Given the description of an element on the screen output the (x, y) to click on. 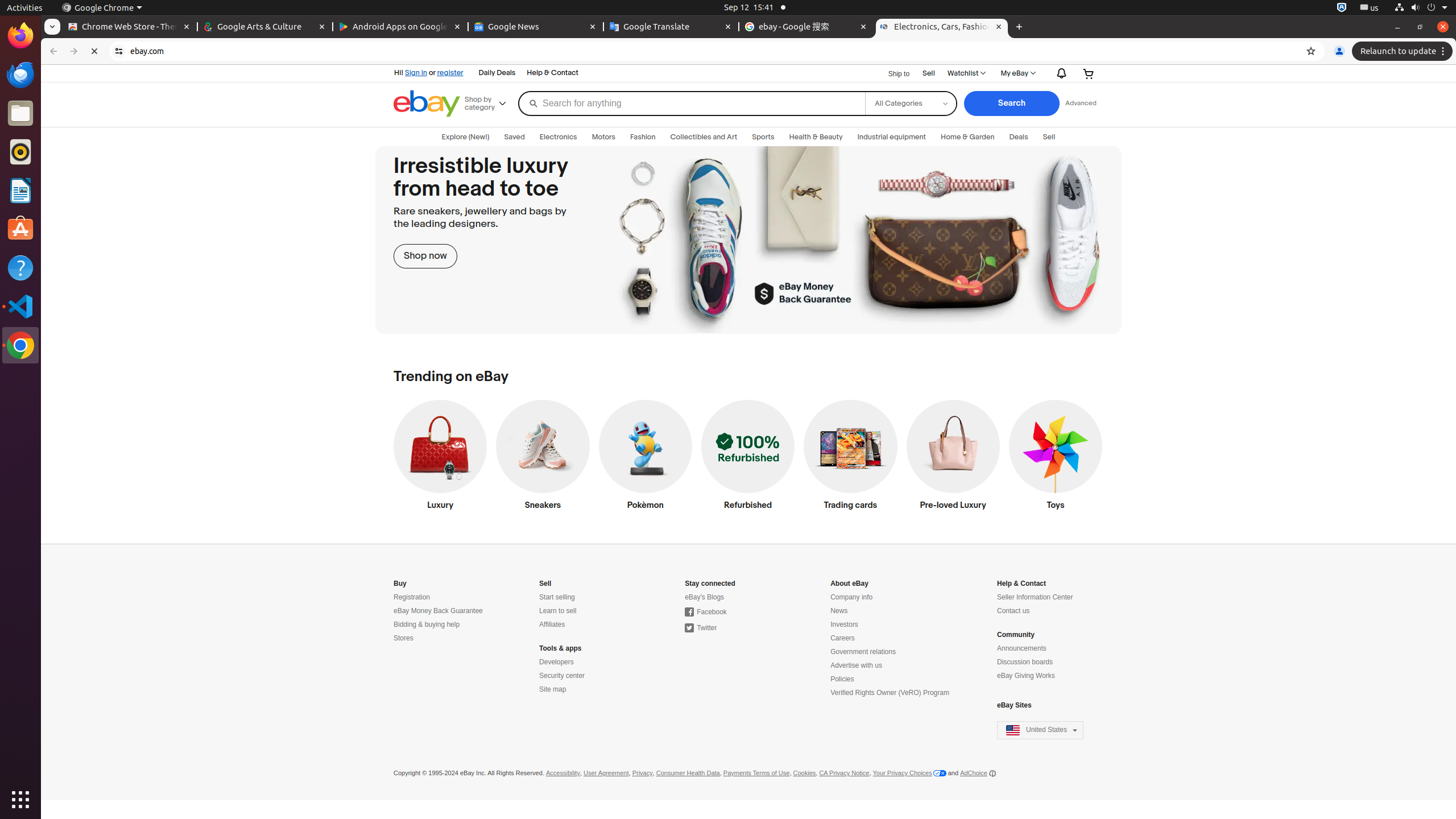
Deals Element type: link (1018, 136)
Irresistible luxury from head to toe Element type: link (748, 239)
User Agreement Element type: link (606, 773)
Developers Element type: link (556, 662)
Thunderbird Mail Element type: push-button (20, 74)
